Given the description of an element on the screen output the (x, y) to click on. 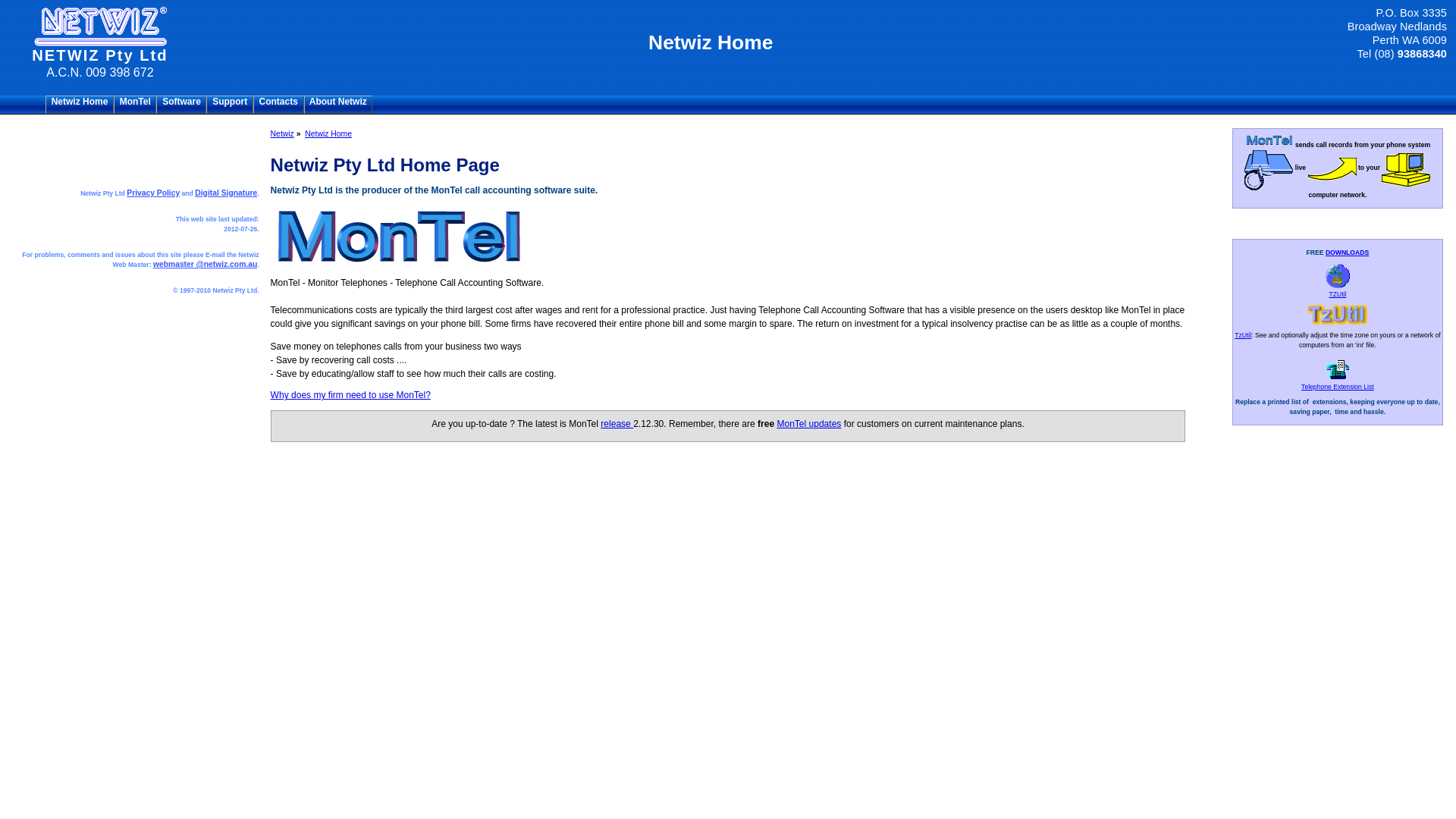
Why does my firm need to use MonTel? Element type: text (350, 394)
  Software   Element type: text (181, 104)
TzUtil Element type: text (1242, 334)
MonTel updates Element type: text (808, 423)
release Element type: text (616, 423)
TZUtil Element type: text (1338, 297)
  Netwiz Home   Element type: text (79, 104)
webmaster @netwiz.com.au Element type: text (205, 264)
  MonTel   Element type: text (134, 104)
DOWNLOADS Element type: text (1346, 252)
  About Netwiz   Element type: text (337, 104)
  Support   Element type: text (229, 104)
Privacy Policy Element type: text (152, 192)
Netwiz Home Element type: text (327, 133)
Digital Signature Element type: text (225, 192)
  Contacts   Element type: text (278, 104)
MonTel Telephone Call Accounting Software Element type: hover (399, 211)
Telephone Extension List Element type: text (1337, 390)
Netwiz Element type: text (282, 133)
